Given the description of an element on the screen output the (x, y) to click on. 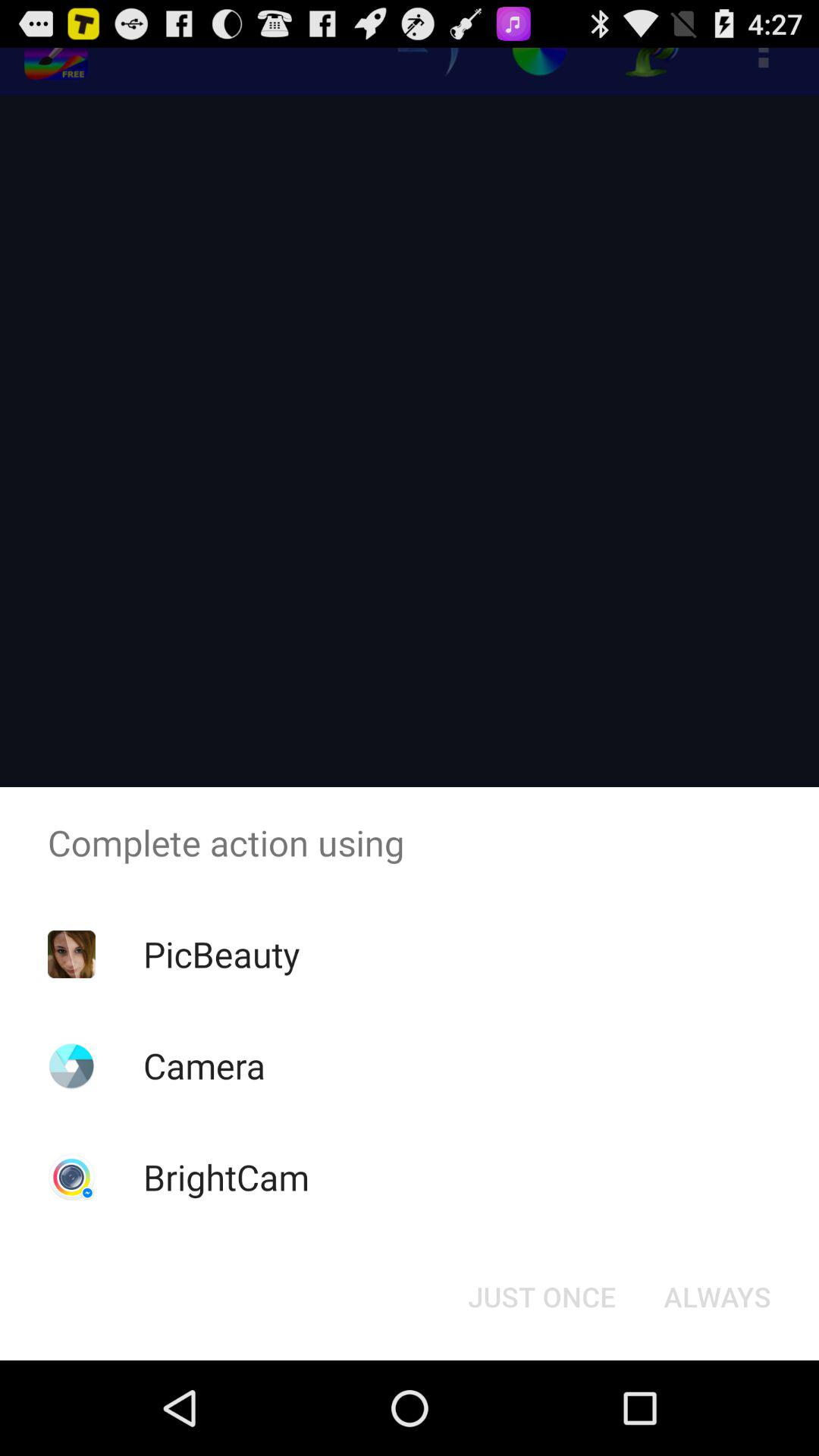
open the always icon (717, 1296)
